Given the description of an element on the screen output the (x, y) to click on. 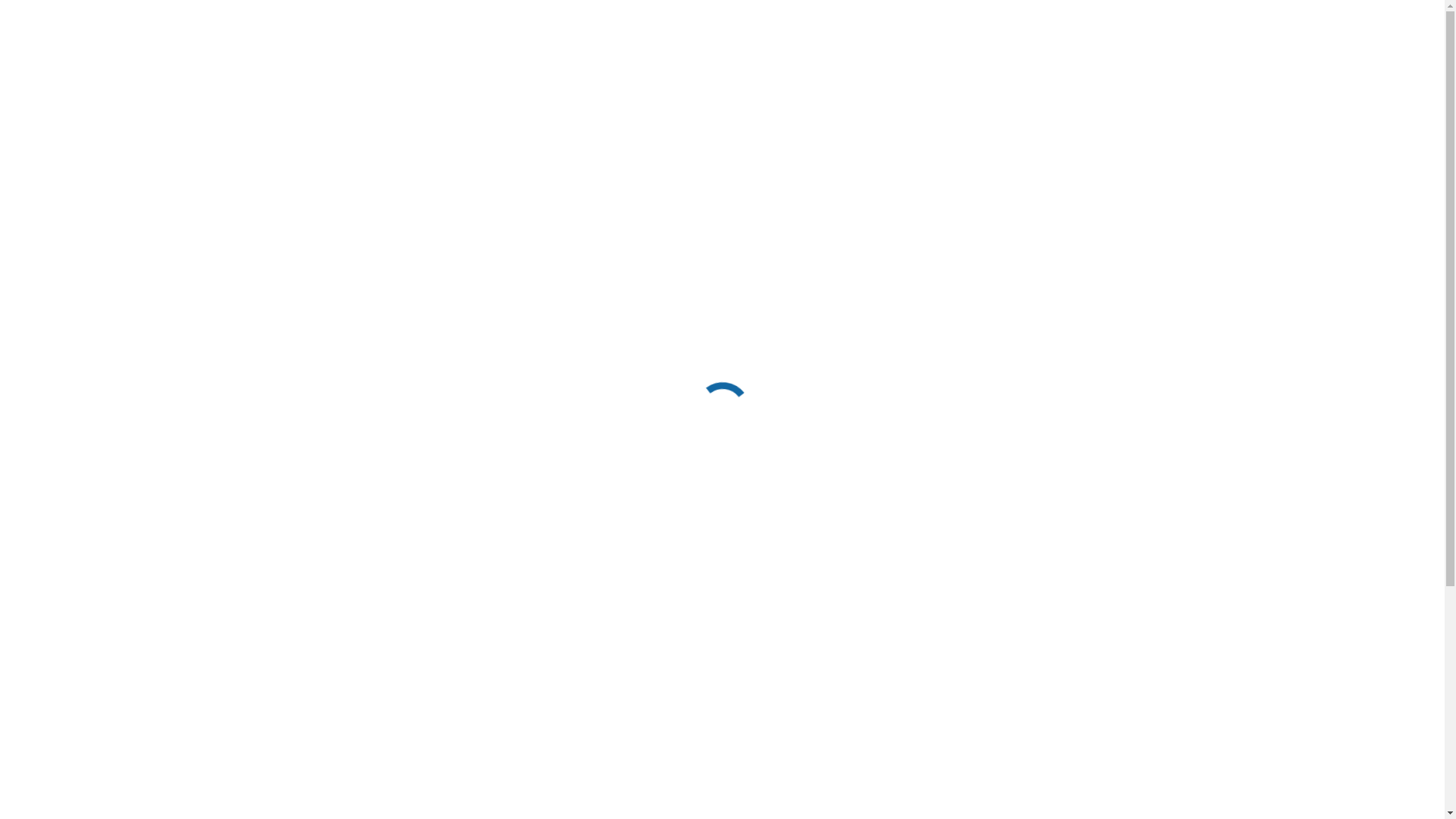
Go! Element type: text (23, 15)
info@crm.com.au Element type: text (407, 13)
About CRM Element type: text (882, 381)
August 7, 2020 Element type: text (1069, 381)
Types of CRM Element type: text (866, 63)
Twitter page opens in new window Element type: text (1163, 12)
A Complete Beginners Guide To CRM Element type: text (1005, 335)
Aug
7
2020 Element type: text (290, 286)
CRM Software Element type: text (994, 381)
Read article Element type: text (899, 578)
About CRM Element type: text (536, 63)
CRM & You Element type: text (630, 63)
Blog Element type: text (1058, 63)
Home Element type: text (459, 63)
Home Element type: text (1047, 147)
Marketing & Sales Element type: text (745, 63)
Contact Element type: text (1117, 63)
CRM Software Element type: text (976, 63)
CRM & You Element type: text (935, 381)
Facebook page opens in new window Element type: text (1138, 12)
2020 Element type: text (1085, 147)
August Element type: text (1126, 147)
